Given the description of an element on the screen output the (x, y) to click on. 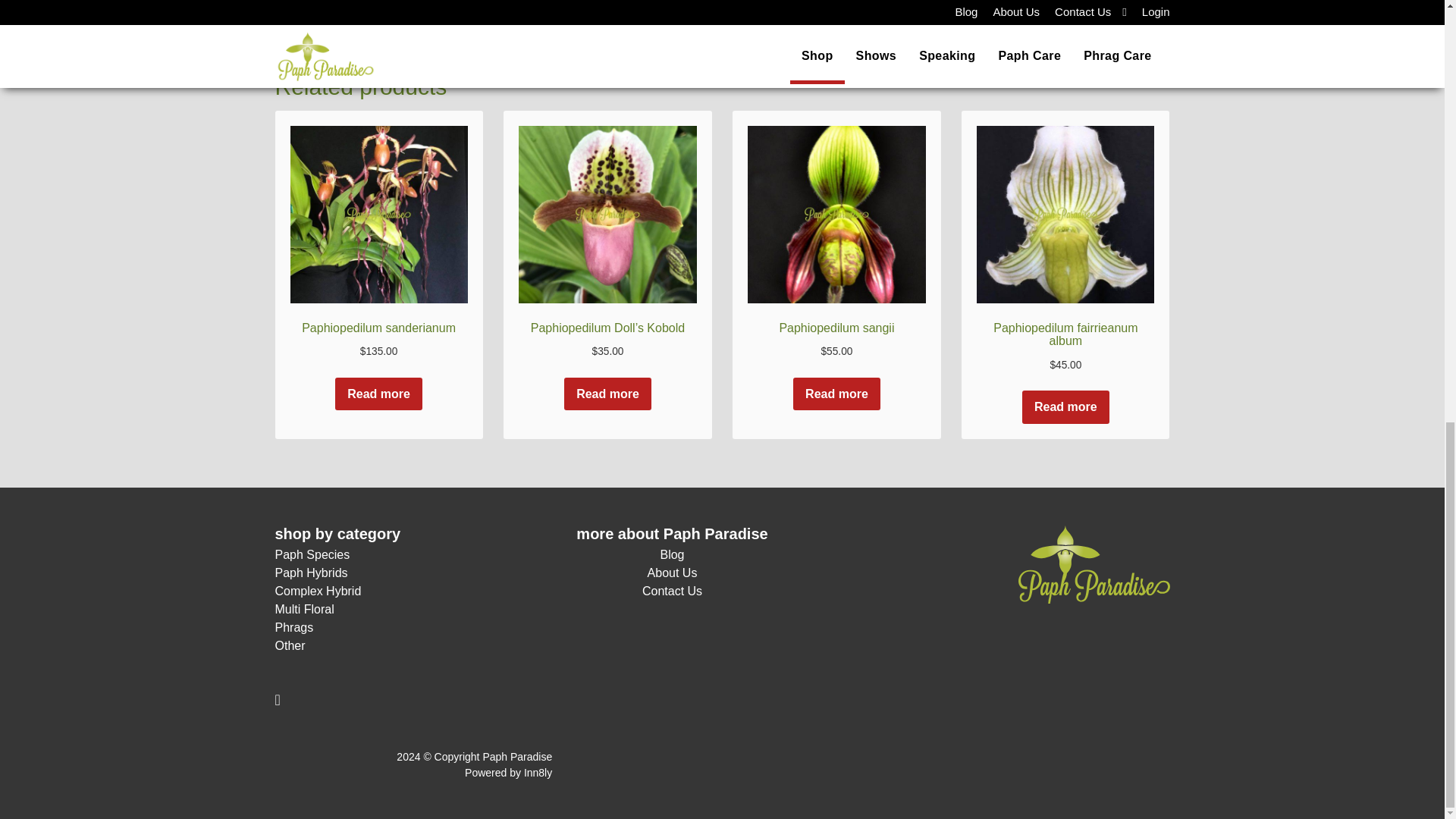
Read more (378, 394)
